Given the description of an element on the screen output the (x, y) to click on. 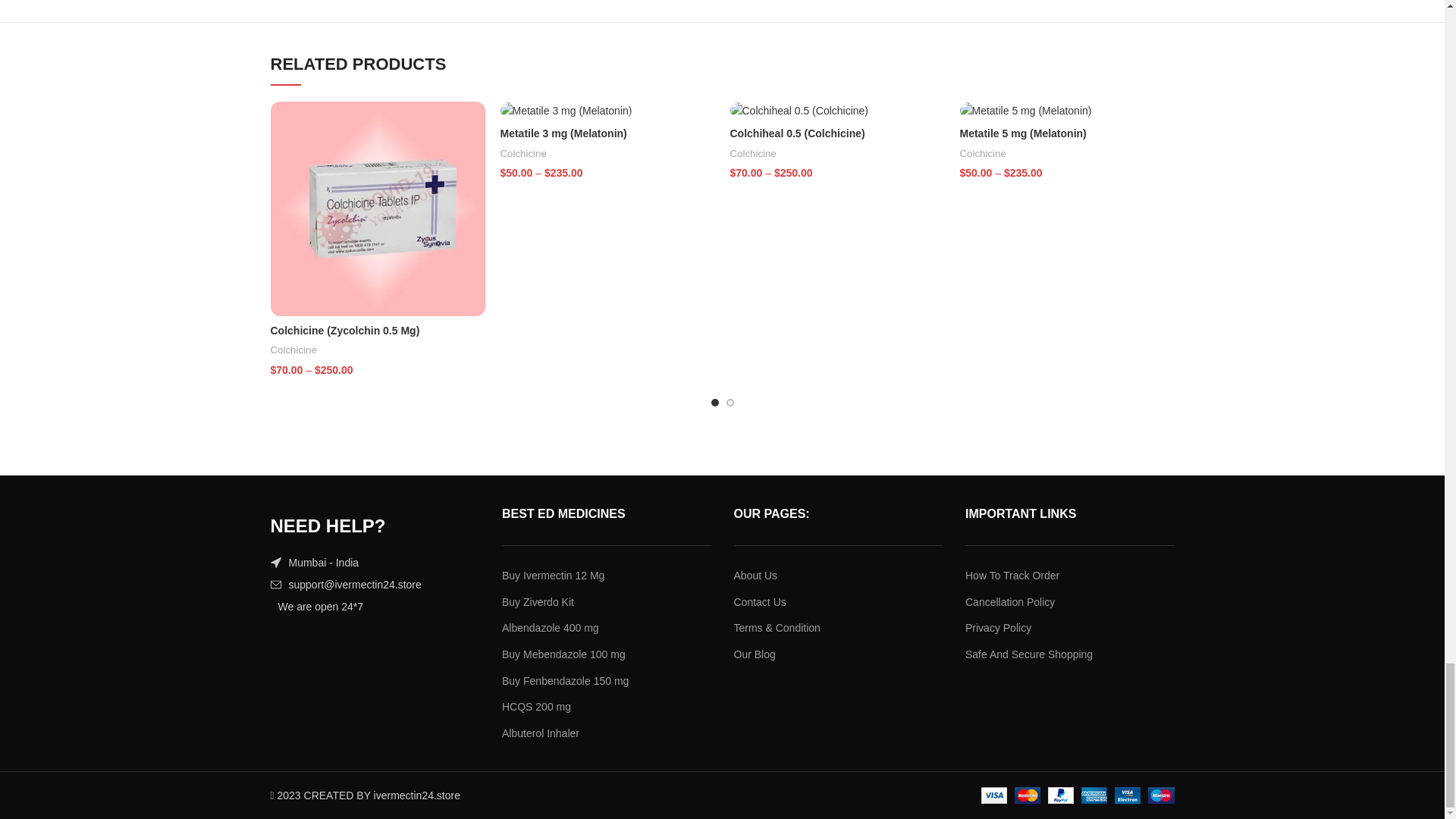
wd-envelope-light (275, 584)
wd-cursor-light (275, 562)
